Given the description of an element on the screen output the (x, y) to click on. 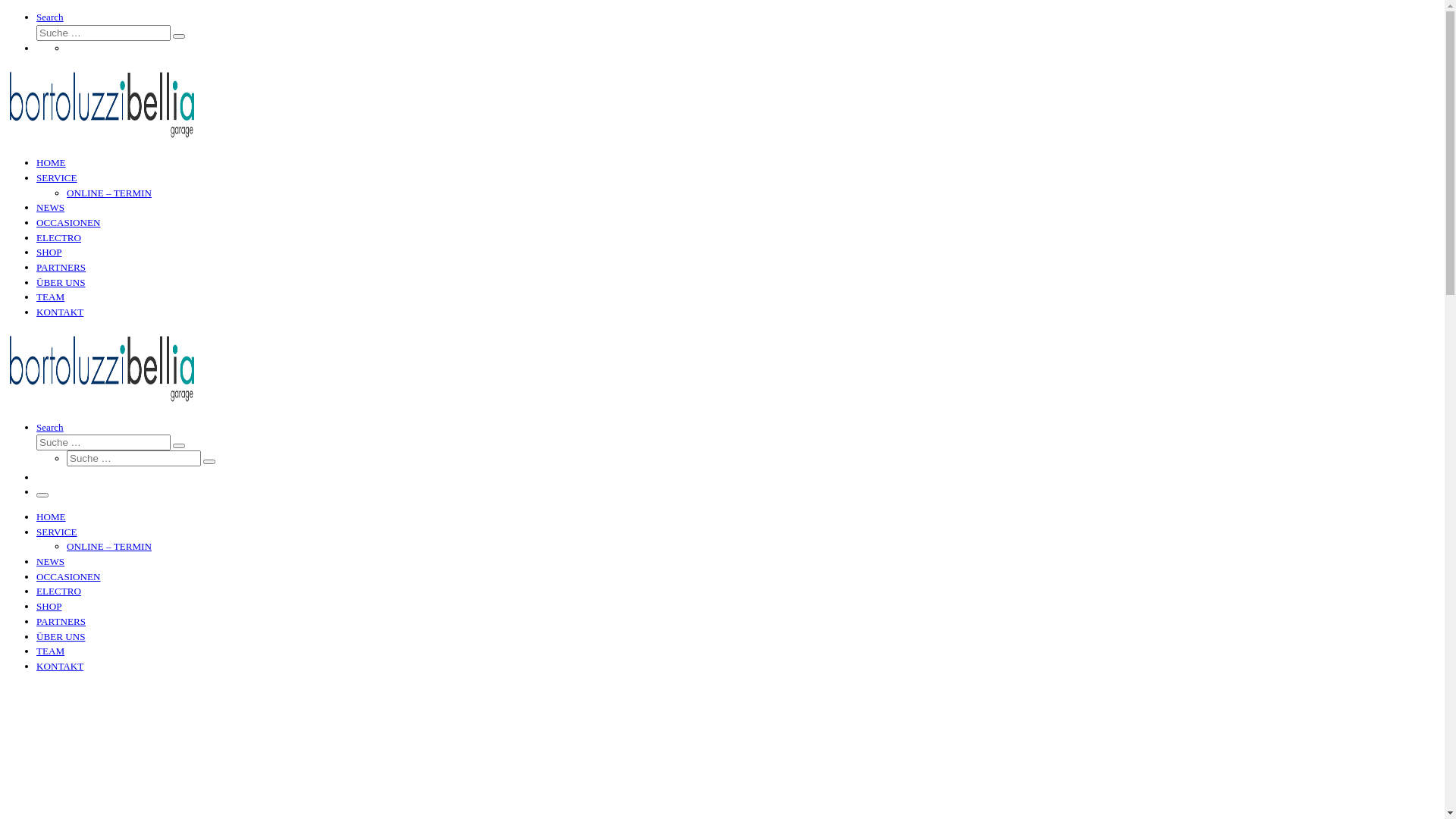
NEWS Element type: text (50, 561)
Search Element type: text (49, 16)
HOME Element type: text (50, 516)
SERVICE Element type: text (56, 531)
OCCASIONEN Element type: text (68, 576)
TEAM Element type: text (50, 650)
KONTAKT Element type: text (59, 311)
PARTNERS Element type: text (60, 267)
ELECTRO Element type: text (58, 237)
KONTAKT Element type: text (59, 665)
NEWS Element type: text (50, 207)
HOME Element type: text (50, 162)
Search Element type: text (49, 427)
SHOP Element type: text (49, 251)
SERVICE Element type: text (56, 177)
PARTNERS Element type: text (60, 621)
OCCASIONEN Element type: text (68, 222)
SHOP Element type: text (49, 605)
Zum Inhalt springen Element type: text (5, 9)
TEAM Element type: text (50, 296)
ELECTRO Element type: text (58, 590)
